Given the description of an element on the screen output the (x, y) to click on. 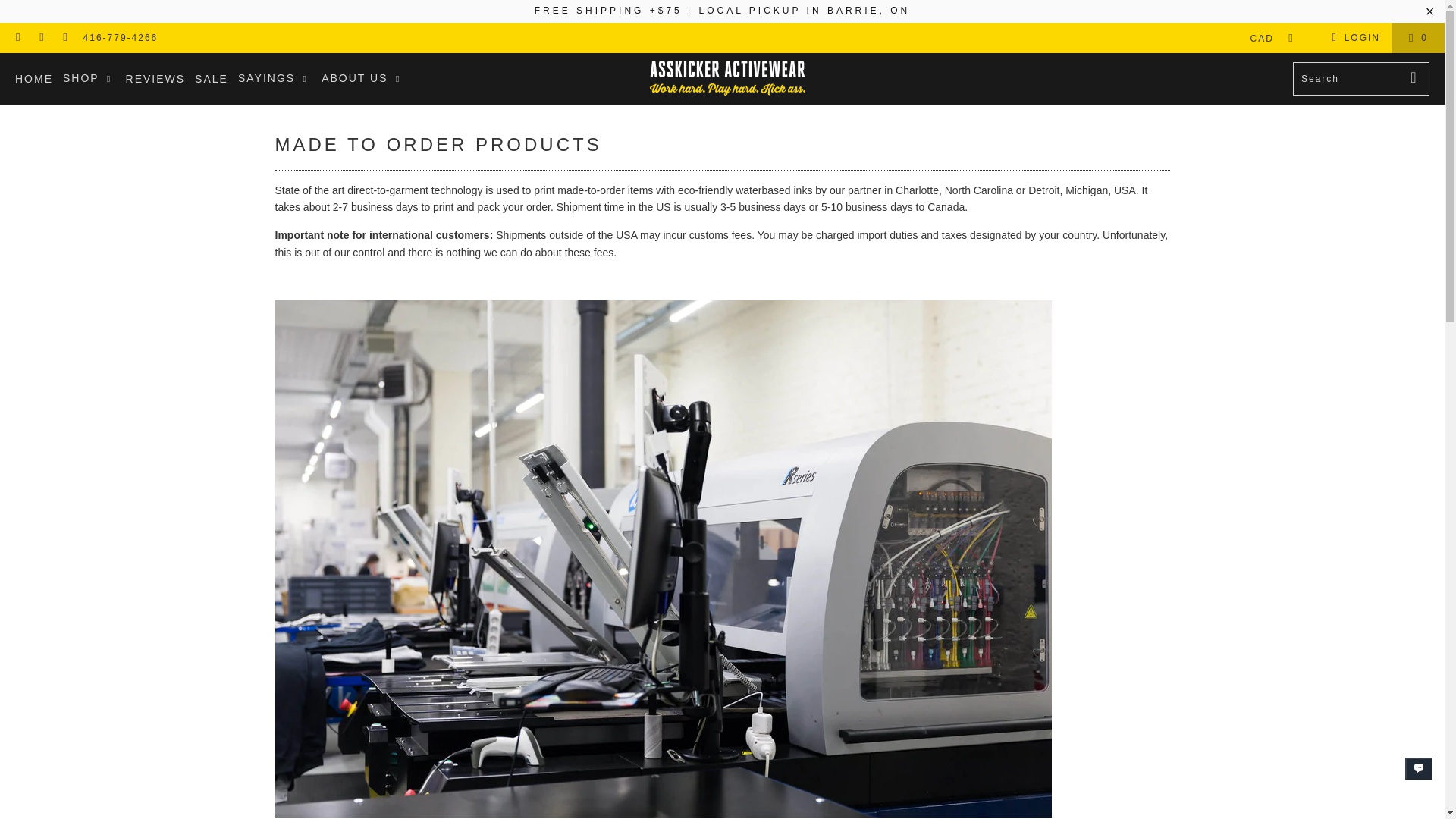
Asskicker Activewear on Pinterest (64, 37)
My Account  (1353, 37)
Asskicker Activewear on Facebook (17, 37)
Asskicker Activewear (727, 78)
Asskicker Activewear on Instagram (41, 37)
